Given the description of an element on the screen output the (x, y) to click on. 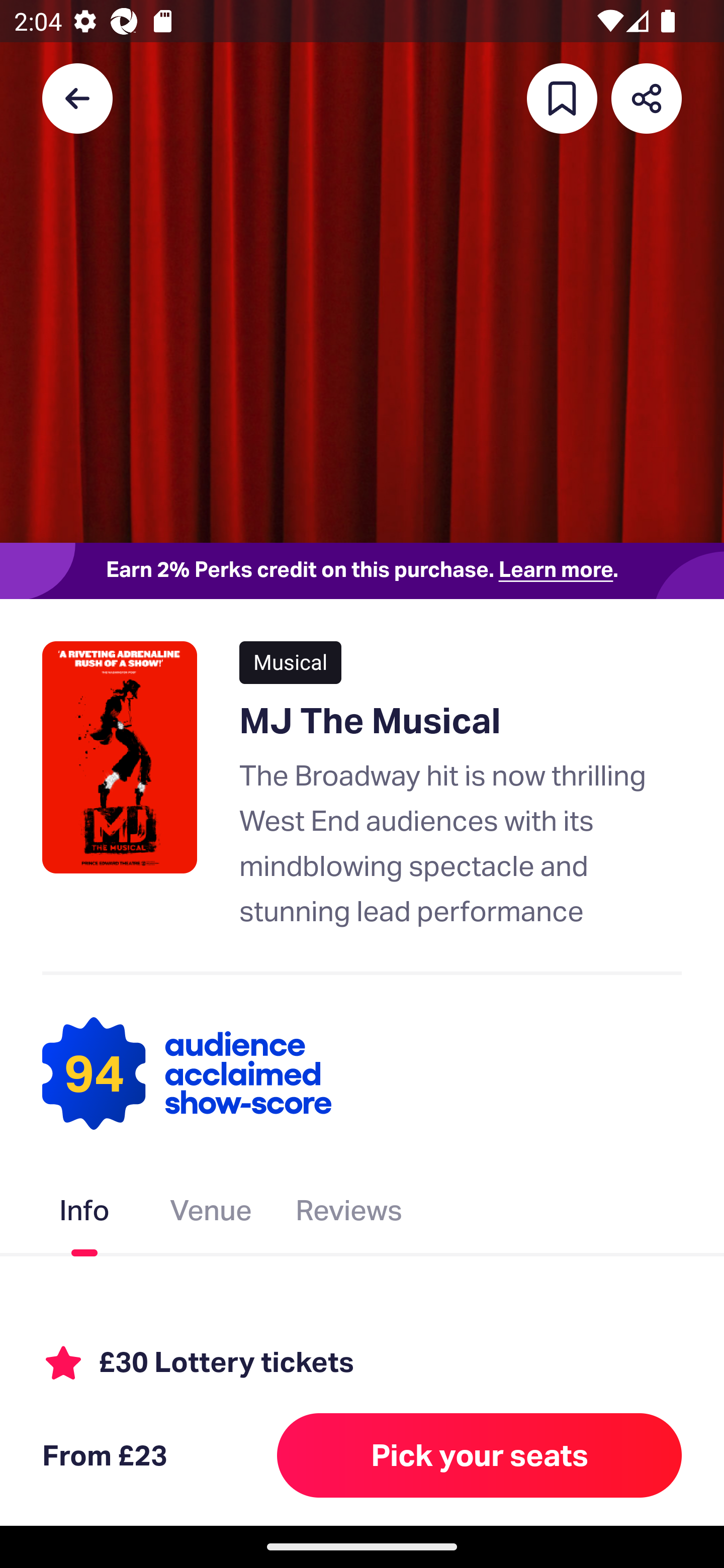
Earn 2% Perks credit on this purchase. Learn more. (362, 570)
Venue (210, 1213)
Reviews (348, 1213)
Pick your seats (479, 1454)
